Given the description of an element on the screen output the (x, y) to click on. 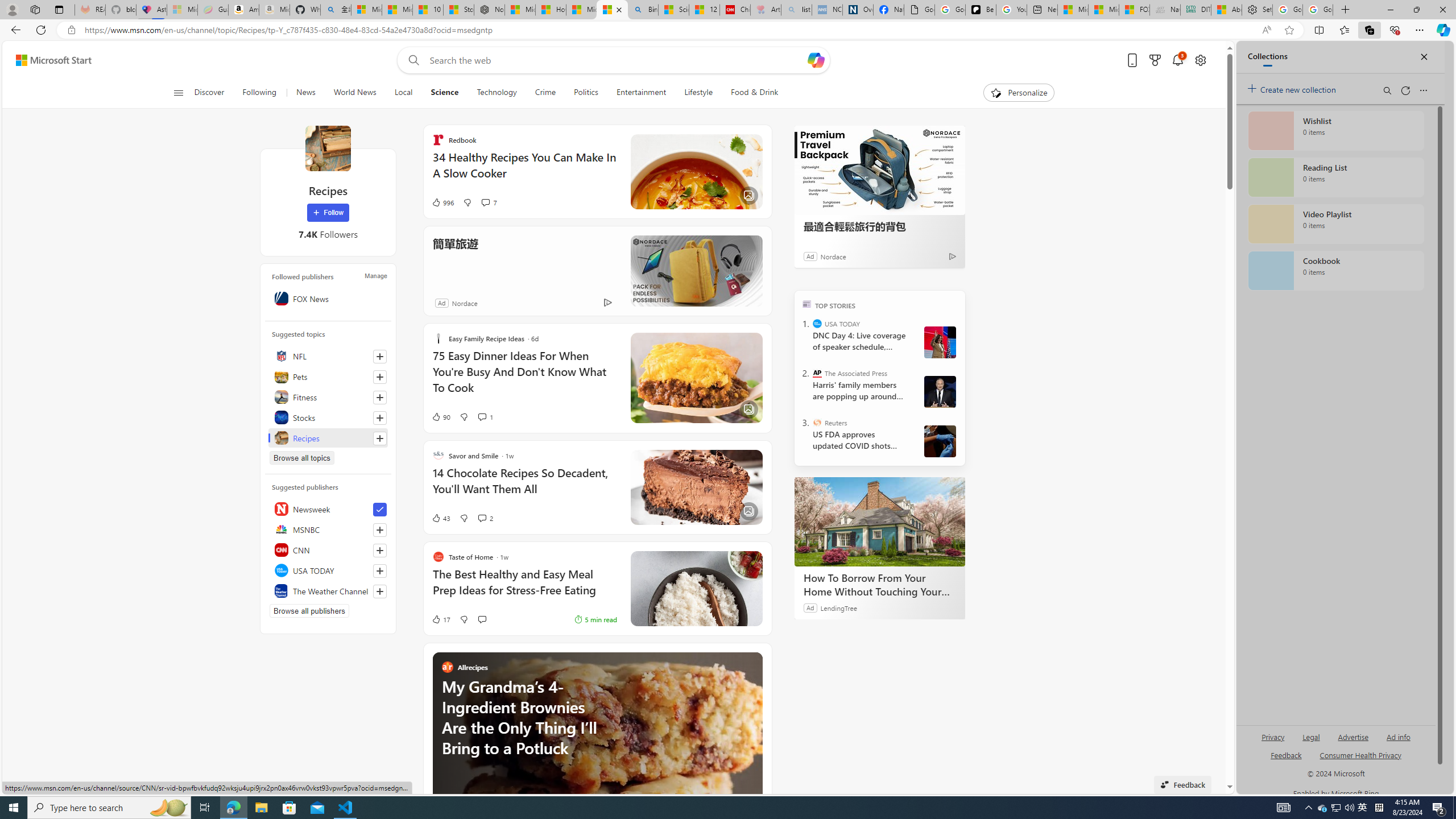
View comments 2 Comment (481, 517)
TOP (806, 302)
Recipes (327, 437)
